Given the description of an element on the screen output the (x, y) to click on. 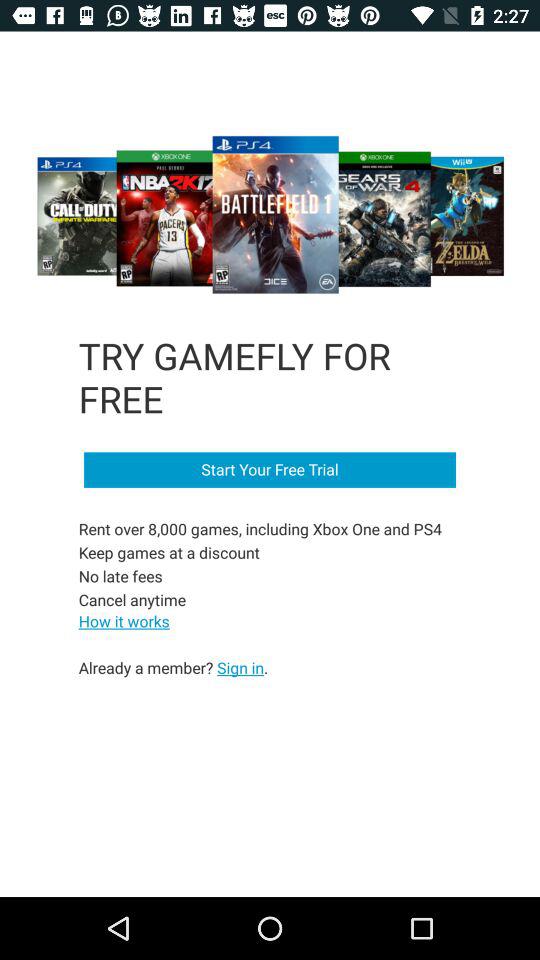
scroll to the rent over 8 item (262, 564)
